Given the description of an element on the screen output the (x, y) to click on. 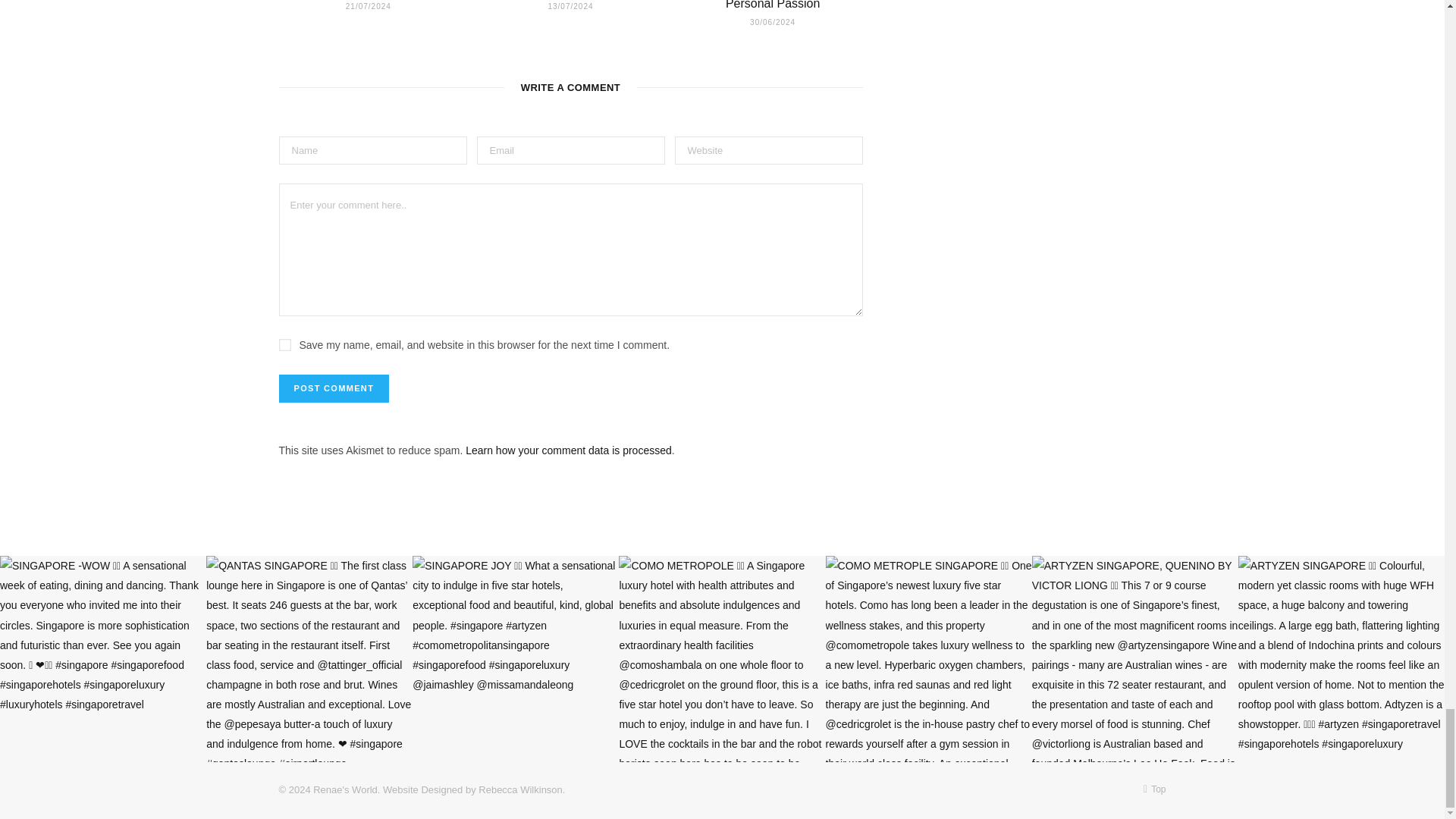
Post Comment (334, 388)
yes (285, 345)
